Given the description of an element on the screen output the (x, y) to click on. 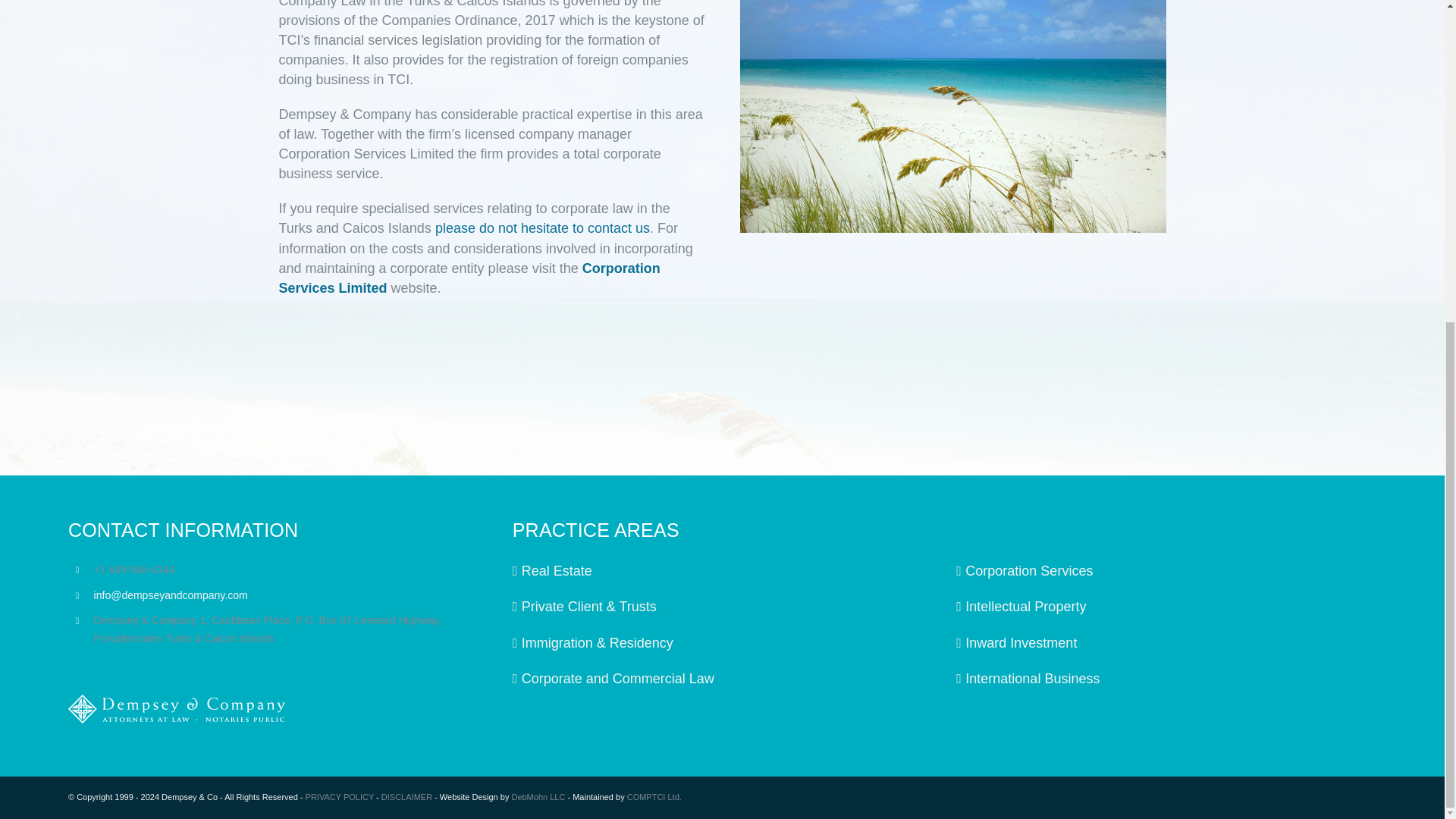
Corporation Services (1166, 570)
Intellectual Property (1166, 606)
Real Estate (722, 570)
Inward Investment (1166, 642)
DISCLAIMER (406, 796)
International Business (1166, 678)
PRIVACY POLICY (339, 796)
please do not hesitate to contact us (542, 227)
DebMohn LLC (537, 796)
Corporate and Commercial Law (722, 678)
Corporation Services Limited (468, 278)
website01 (952, 116)
COMPTCI Ltd. (654, 796)
